Given the description of an element on the screen output the (x, y) to click on. 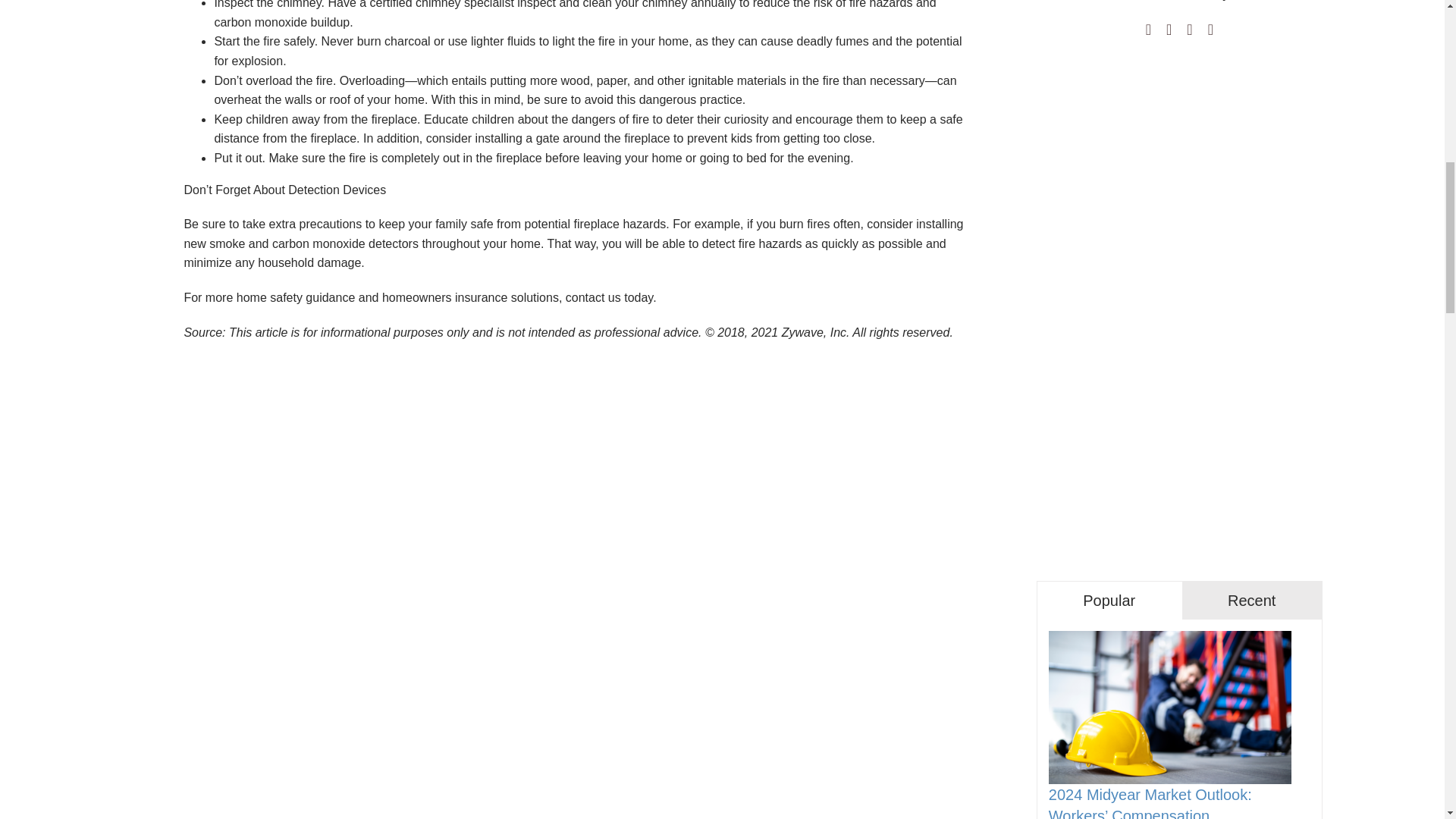
Twitter (1168, 29)
Facebook (1148, 29)
LinkedIn (1189, 29)
Email (1210, 29)
